Given the description of an element on the screen output the (x, y) to click on. 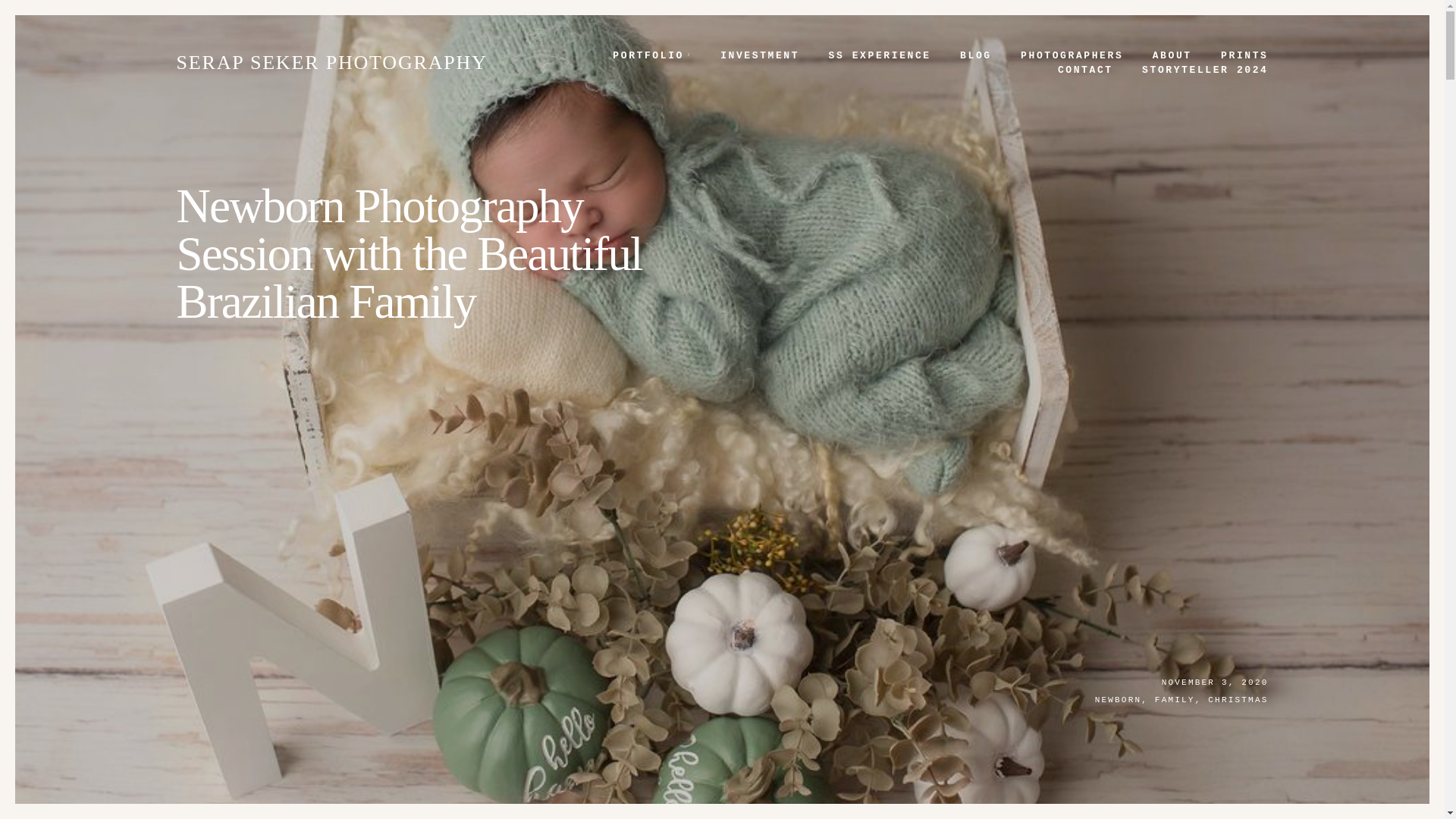
BLOG (975, 55)
PRINTS (1244, 55)
STORYTELLER 2024 (1204, 69)
INVESTMENT (759, 55)
PHOTOGRAPHERS (1072, 55)
CONTACT (1084, 69)
SERAP SEKER PHOTOGRAPHY (331, 61)
SS EXPERIENCE (878, 55)
PORTFOLIO (652, 55)
ABOUT (1171, 55)
